Given the description of an element on the screen output the (x, y) to click on. 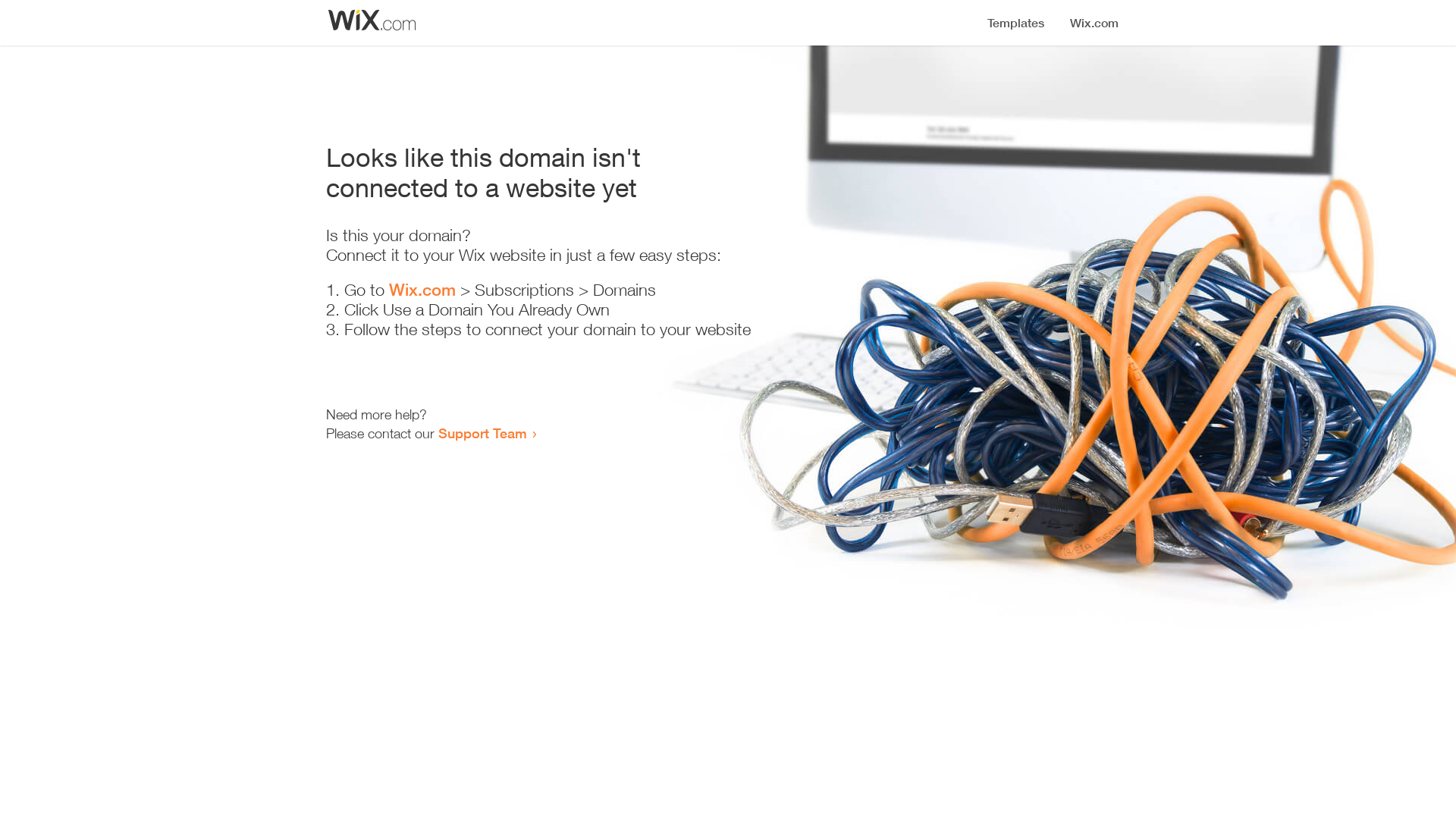
Wix.com Element type: text (422, 289)
Support Team Element type: text (482, 432)
